Given the description of an element on the screen output the (x, y) to click on. 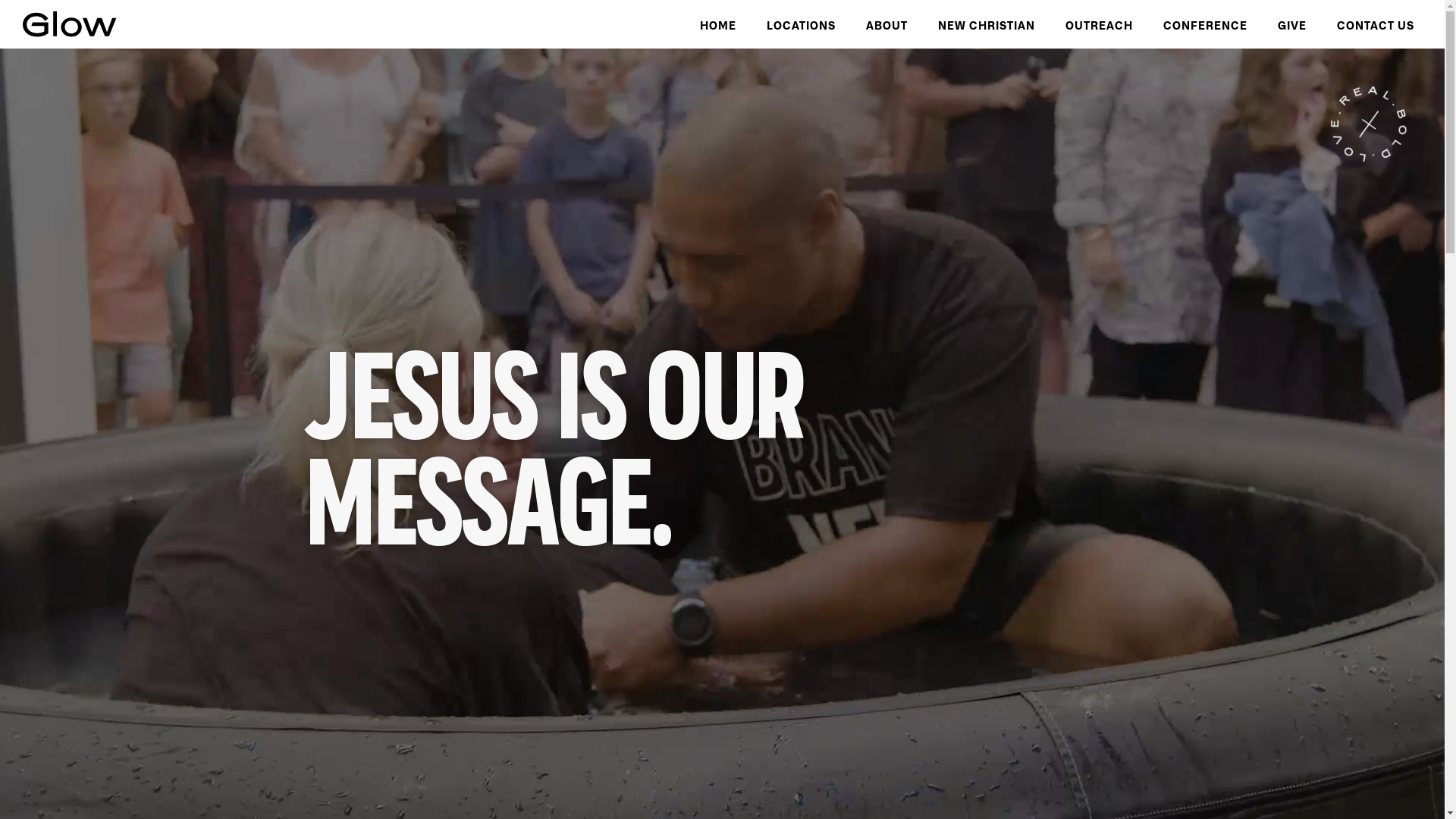
CONTACT US Element type: text (1375, 24)
CONFERENCE Element type: text (1205, 24)
ABOUT Element type: text (886, 24)
LOCATIONS Element type: text (800, 24)
HOME Element type: text (717, 24)
GIVE Element type: text (1291, 24)
NEW CHRISTIAN Element type: text (986, 24)
OUTREACH Element type: text (1099, 24)
